Given the description of an element on the screen output the (x, y) to click on. 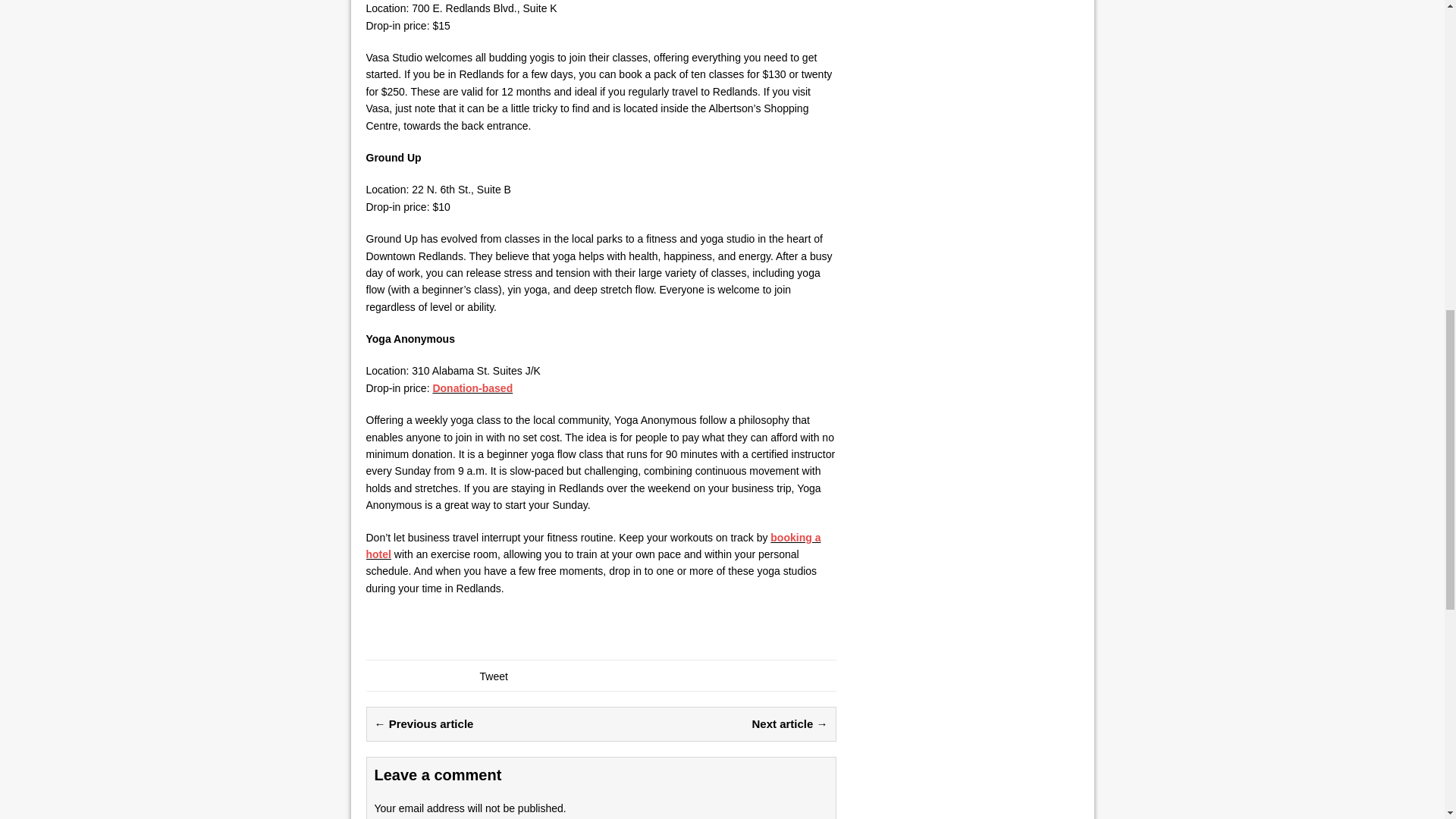
Tweet (492, 676)
Donation-based (472, 387)
booking a hotel (593, 545)
